Given the description of an element on the screen output the (x, y) to click on. 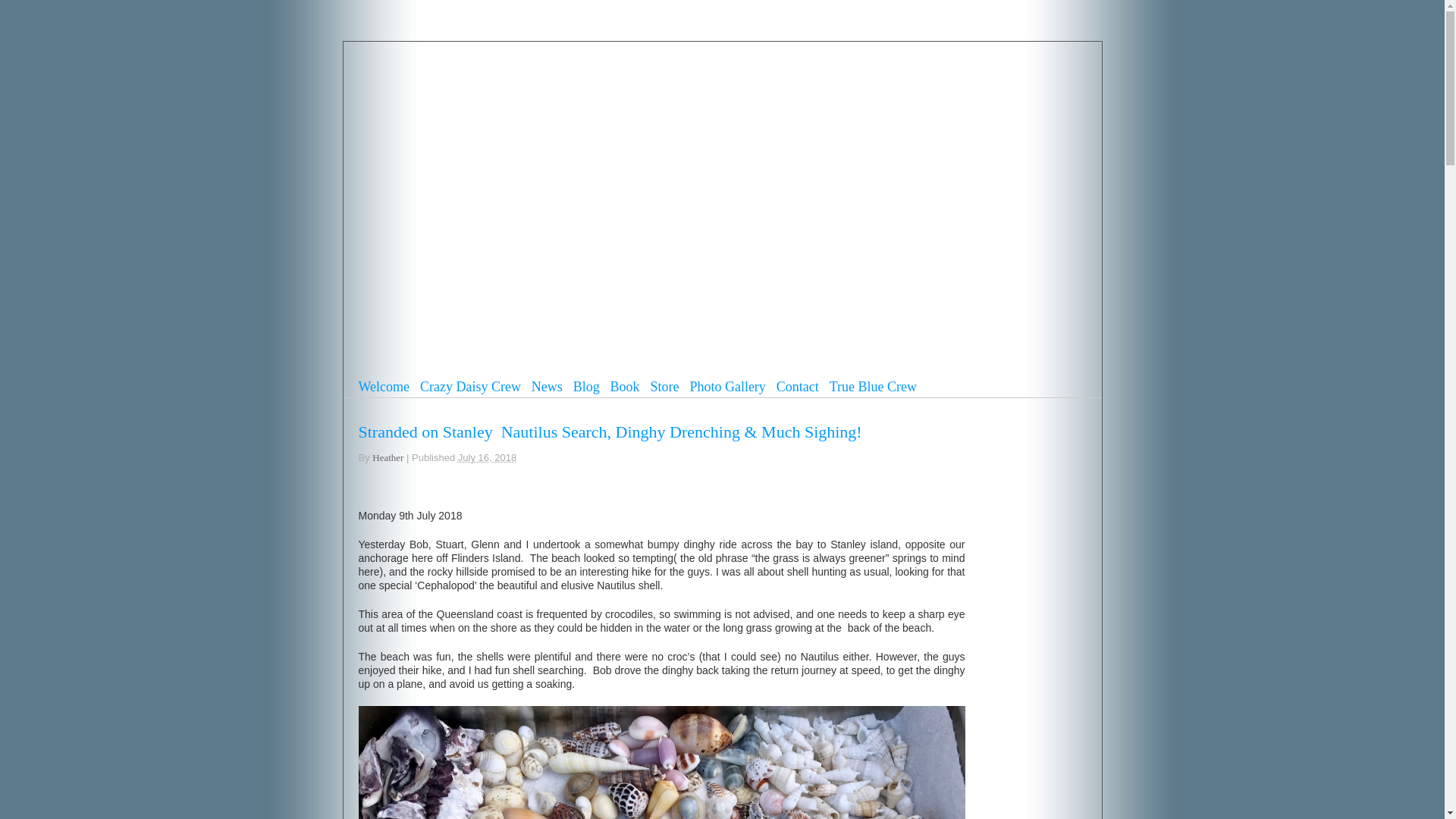
Blog (586, 388)
News (546, 388)
Welcome (383, 388)
Crazy Daisy Crew (470, 388)
Contact (797, 388)
View all articles by Heather (387, 457)
True Blue Crew (873, 388)
Heather (387, 457)
Book (625, 388)
Photo Gallery (726, 388)
